Given the description of an element on the screen output the (x, y) to click on. 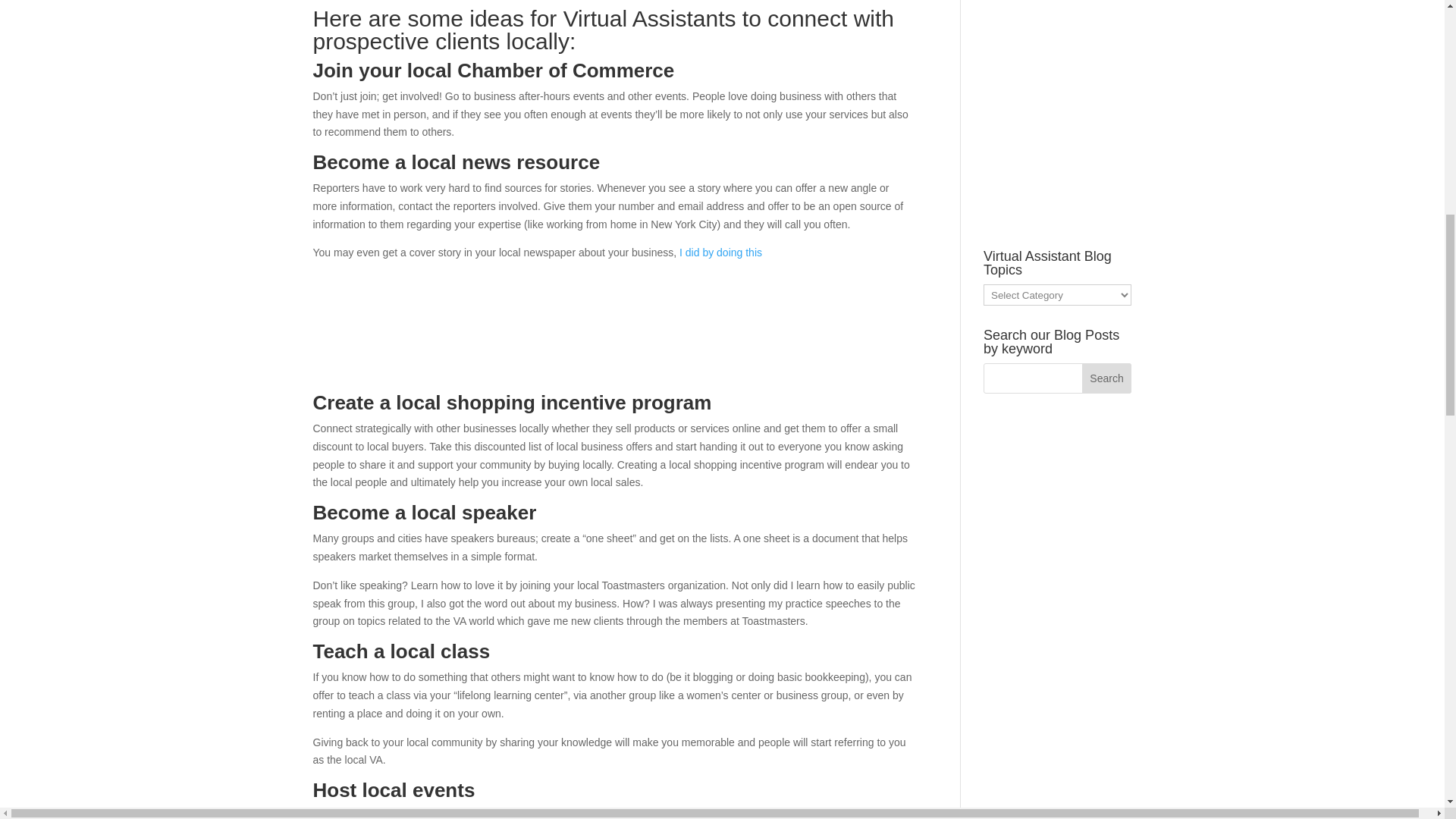
Search (1106, 378)
I did by doing this (719, 252)
Search (1106, 378)
